Given the description of an element on the screen output the (x, y) to click on. 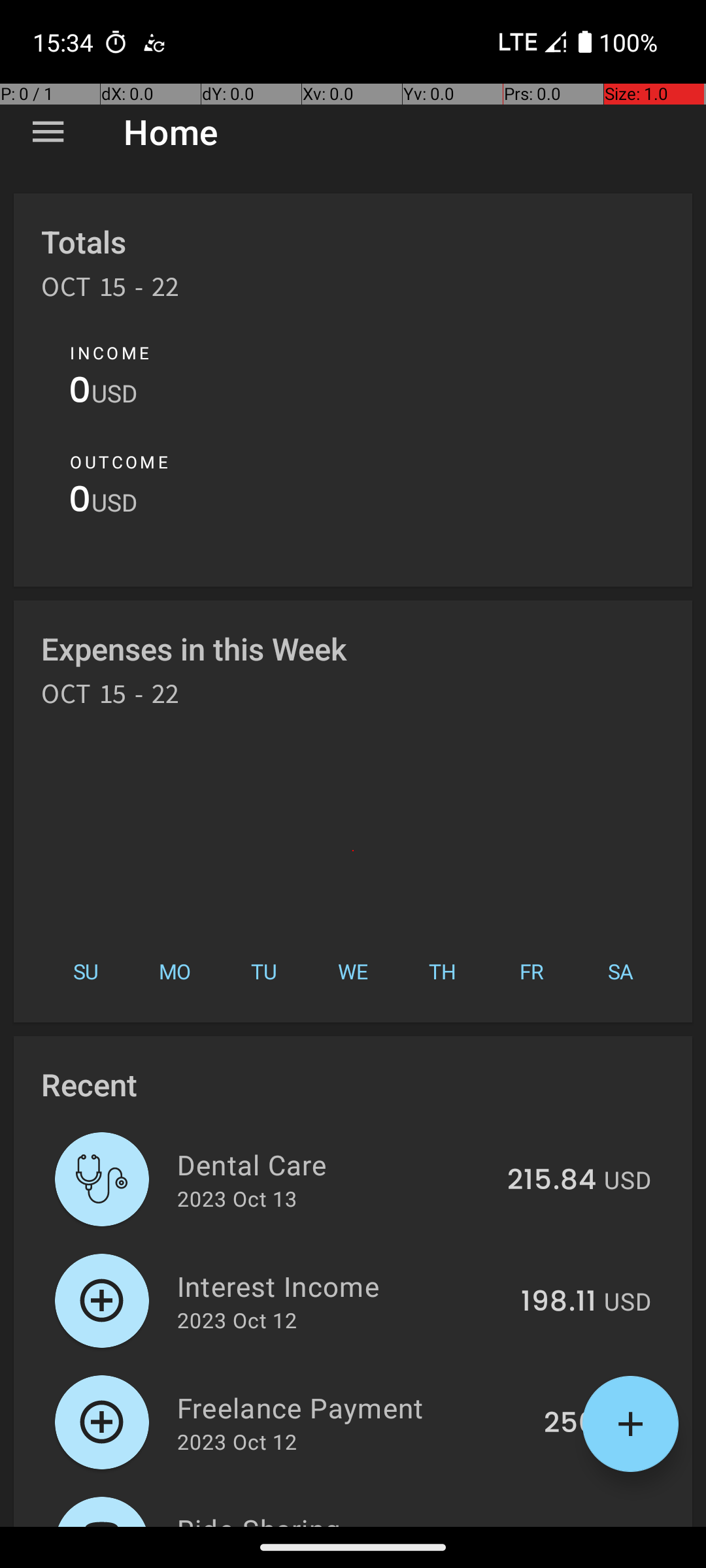
Dental Care Element type: android.widget.TextView (334, 1164)
215.84 Element type: android.widget.TextView (551, 1180)
Interest Income Element type: android.widget.TextView (341, 1285)
198.11 Element type: android.widget.TextView (558, 1301)
250 Element type: android.widget.TextView (569, 1423)
Ride-Sharing Element type: android.widget.TextView (329, 1518)
446.88 Element type: android.widget.TextView (546, 1524)
